Given the description of an element on the screen output the (x, y) to click on. 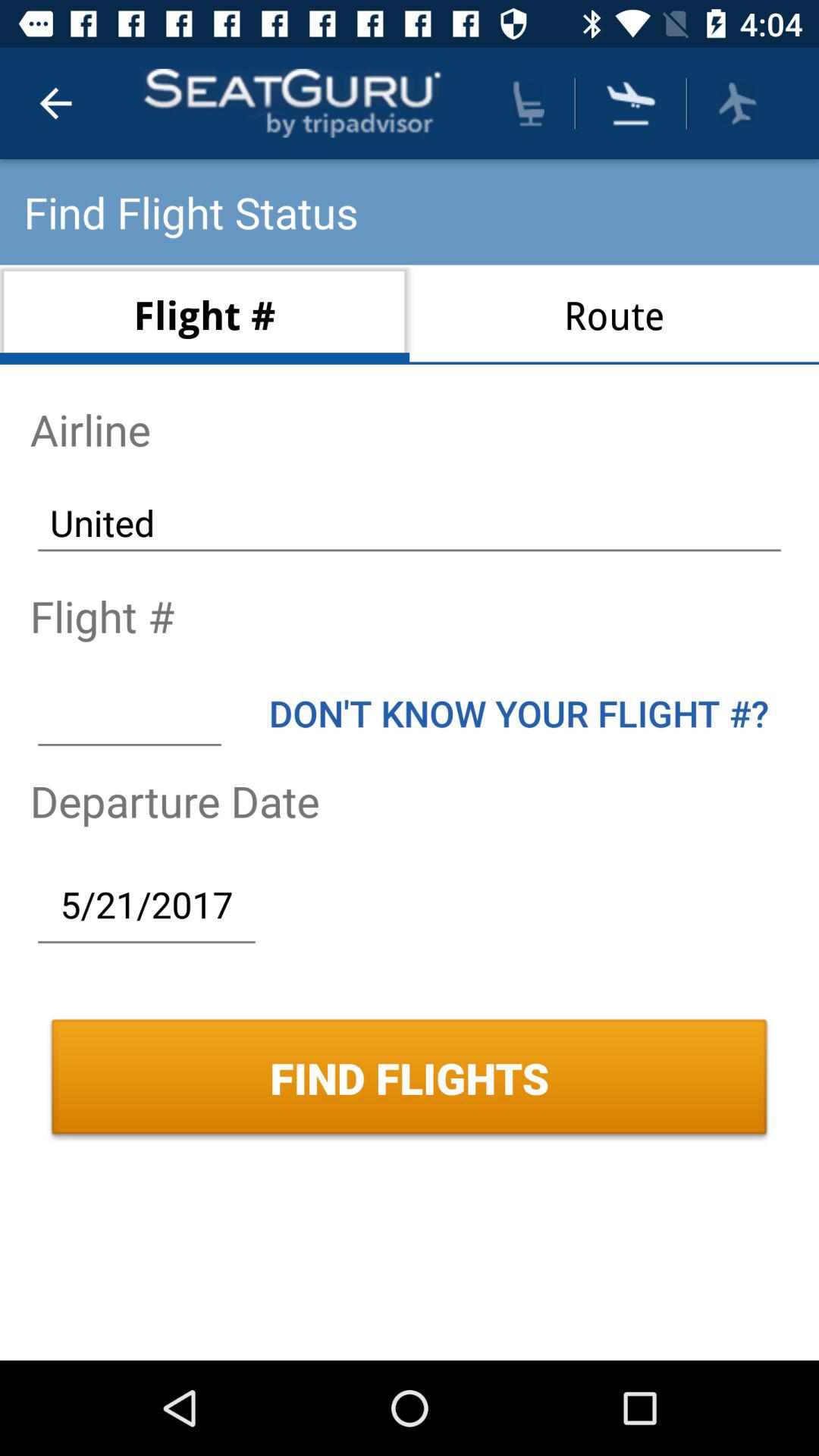
lets you pick which seat you want (528, 103)
